Given the description of an element on the screen output the (x, y) to click on. 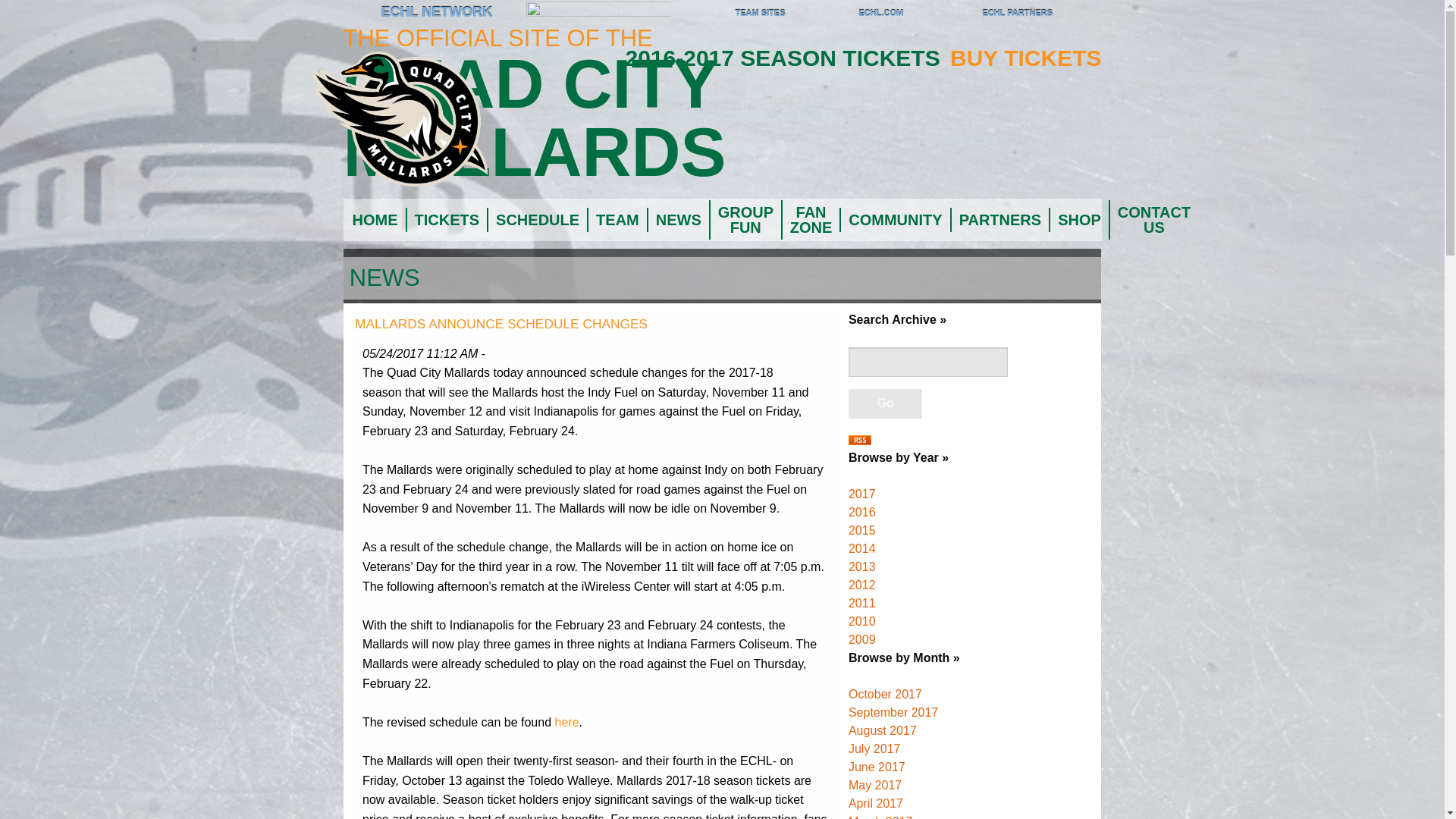
2016-2017 SEASON TICKETS (786, 57)
GROUP FUN (744, 219)
TICKETS (445, 219)
SCHEDULE (536, 219)
HOME (373, 219)
Visit the Official ECHL website (362, 14)
BUY TICKETS (1025, 57)
TEAM (616, 219)
Go (884, 403)
ECHL (362, 14)
NEWS (677, 219)
FAN ZONE (810, 219)
